Given the description of an element on the screen output the (x, y) to click on. 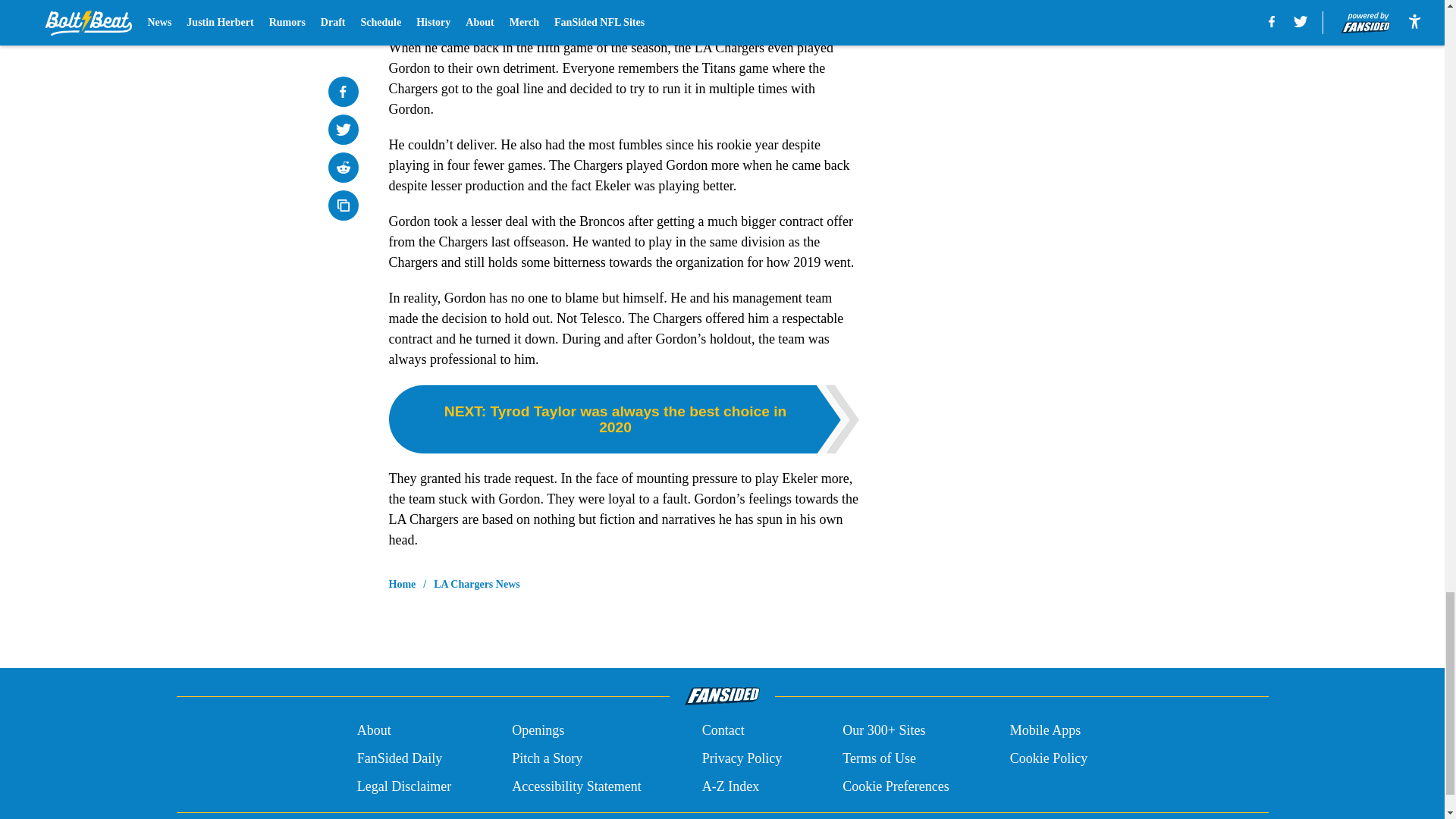
LA Chargers News (476, 584)
About (373, 730)
Pitch a Story (547, 758)
Openings (538, 730)
FanSided Daily (399, 758)
Home (401, 584)
Contact (722, 730)
NEXT: Tyrod Taylor was always the best choice in 2020 (623, 418)
Mobile Apps (1045, 730)
